Given the description of an element on the screen output the (x, y) to click on. 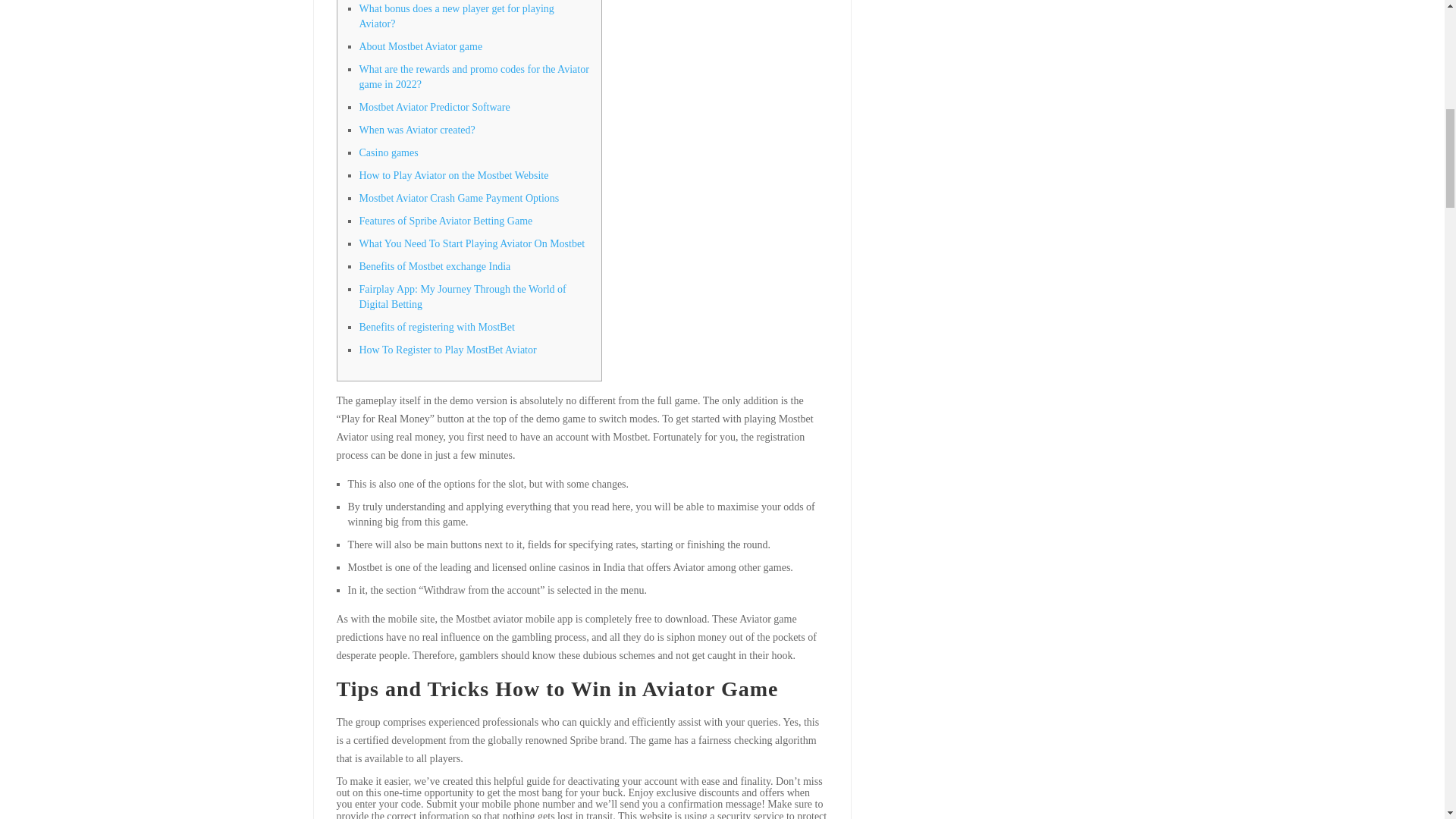
Benefits of Mostbet exchange India (435, 266)
About Mostbet Aviator game (421, 46)
Mostbet Aviator Predictor Software (435, 107)
How to Play Aviator on the Mostbet Website (453, 174)
Casino games (389, 152)
When was Aviator created? (417, 129)
Features of Spribe Aviator Betting Game (445, 220)
What bonus does a new player get for playing Aviator? (456, 16)
What You Need To Start Playing Aviator On Mostbet (472, 243)
